Given the description of an element on the screen output the (x, y) to click on. 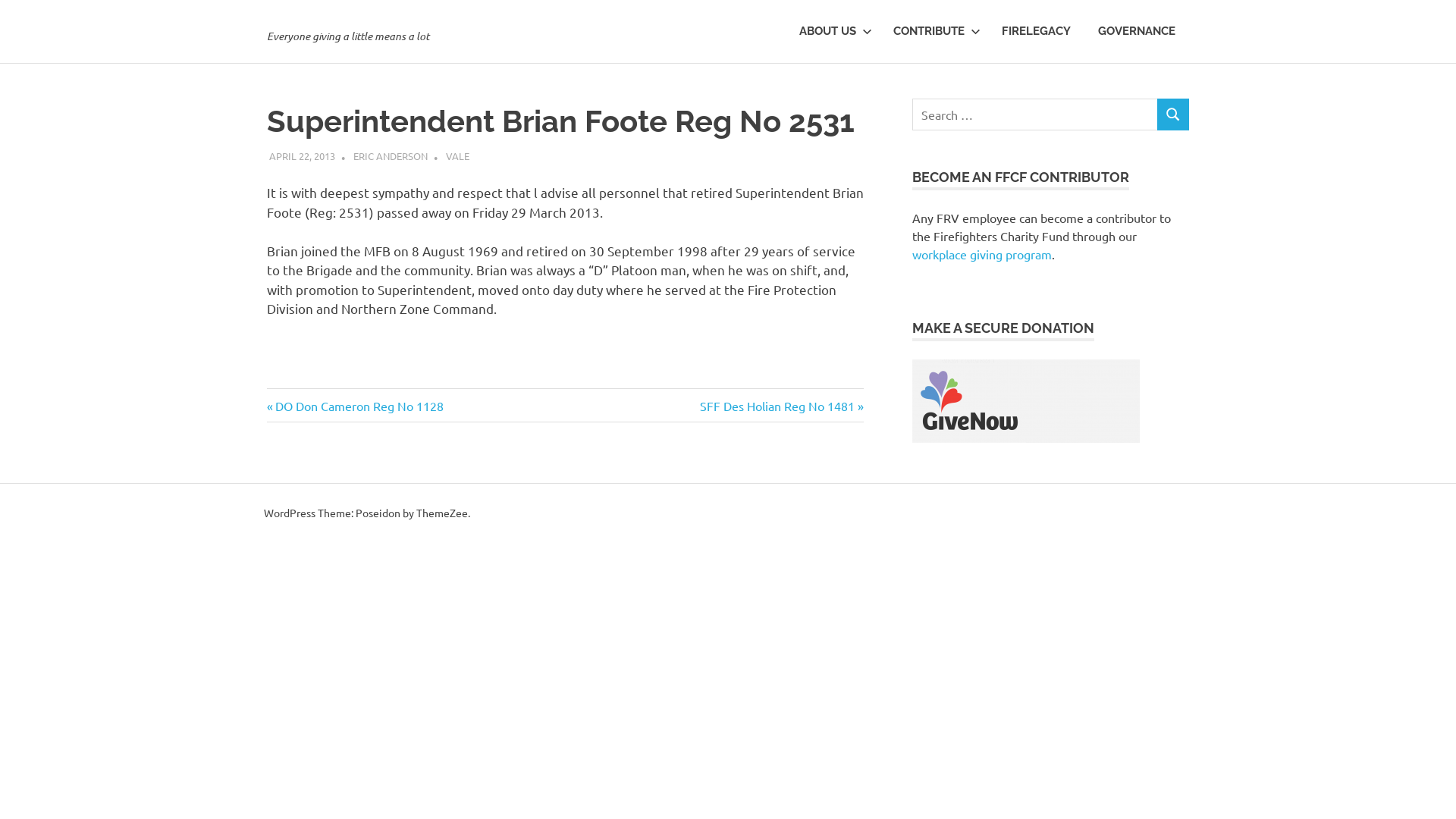
FIRELEGACY Element type: text (1036, 31)
Next Post:
SFF Des Holian Reg No 1481 Element type: text (781, 405)
ERIC ANDERSON Element type: text (390, 155)
VALE Element type: text (457, 155)
Previous Post:
DO Don Cameron Reg No 1128 Element type: text (354, 405)
GOVERNANCE Element type: text (1136, 31)
APRIL 22, 2013 Element type: text (302, 155)
Search for: Element type: hover (1034, 114)
CONTRIBUTE Element type: text (933, 31)
workplace giving program Element type: text (981, 253)
ABOUT US Element type: text (832, 31)
ThemeZee Element type: text (441, 512)
